Given the description of an element on the screen output the (x, y) to click on. 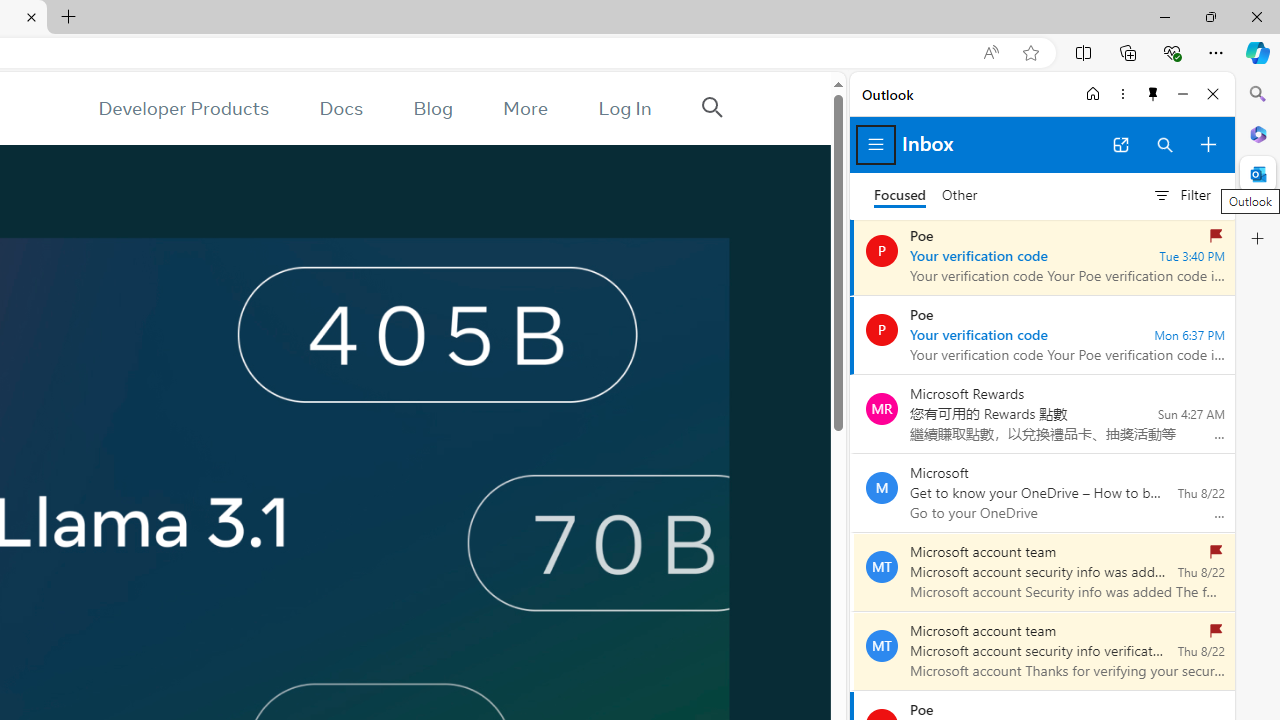
Developer Products (183, 108)
Filter (1181, 195)
Focused Inbox, toggle to go to Other Inbox (925, 195)
